Given the description of an element on the screen output the (x, y) to click on. 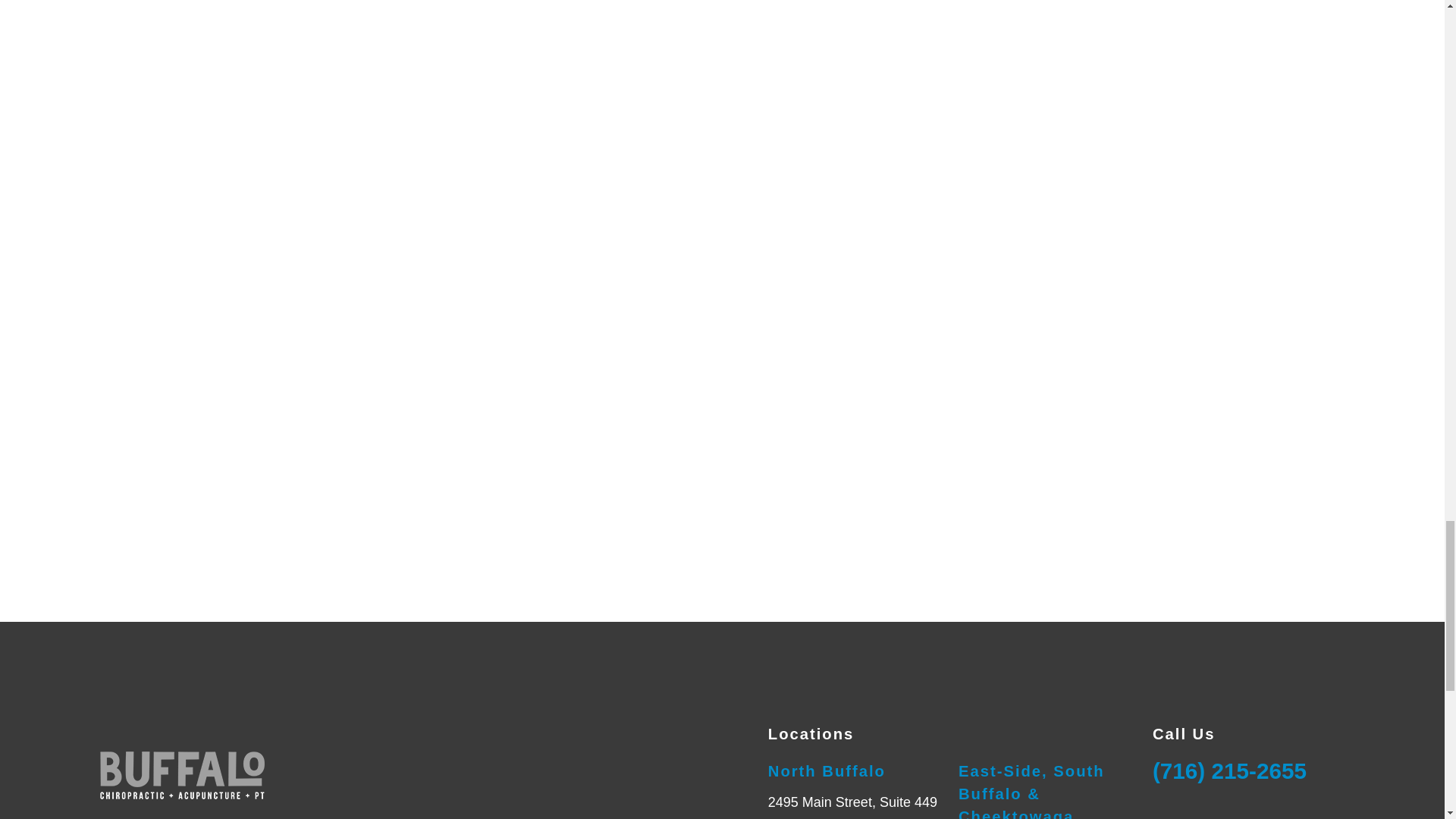
Home (196, 770)
